Given the description of an element on the screen output the (x, y) to click on. 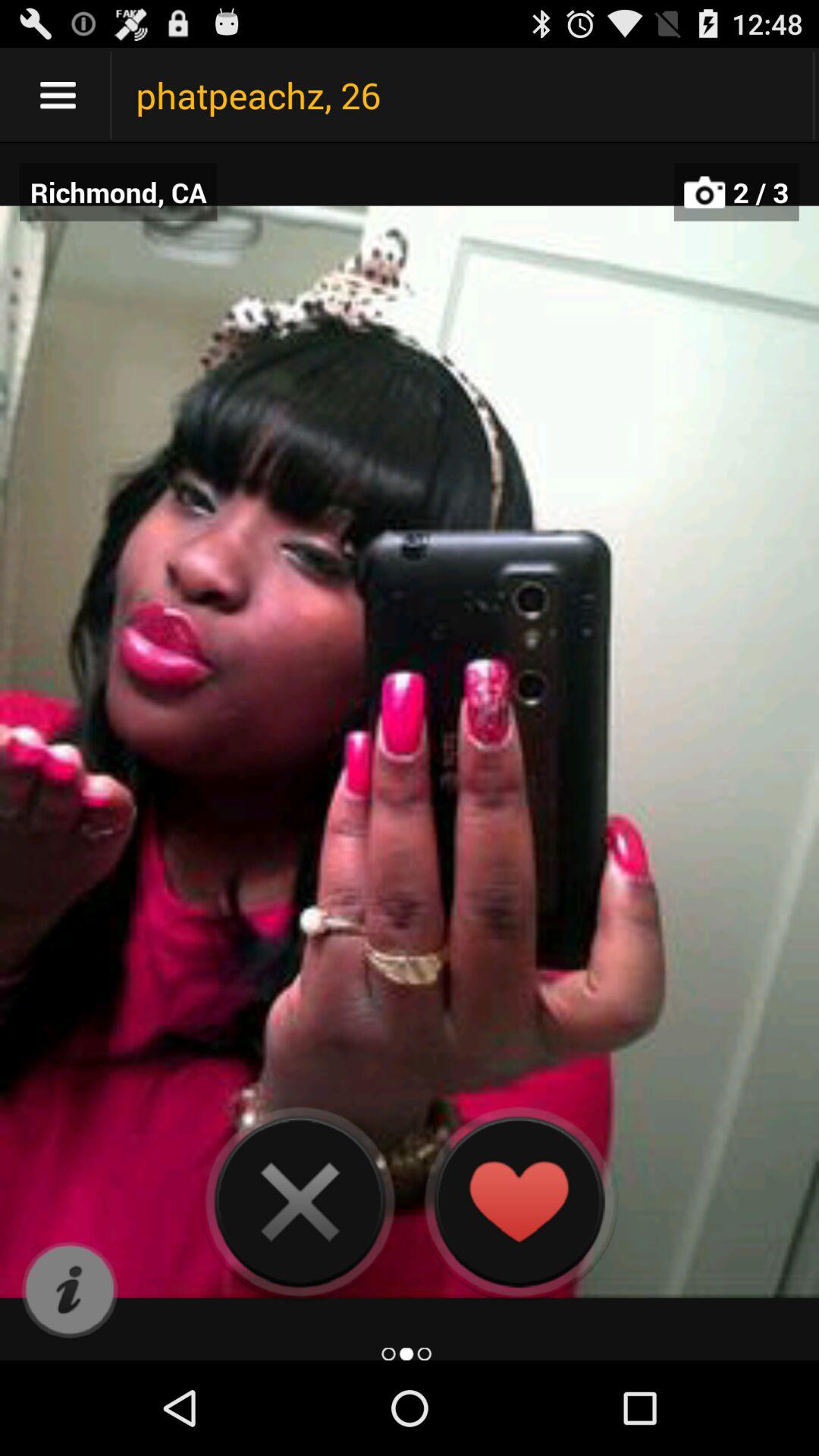
reject photo (299, 1200)
